Given the description of an element on the screen output the (x, y) to click on. 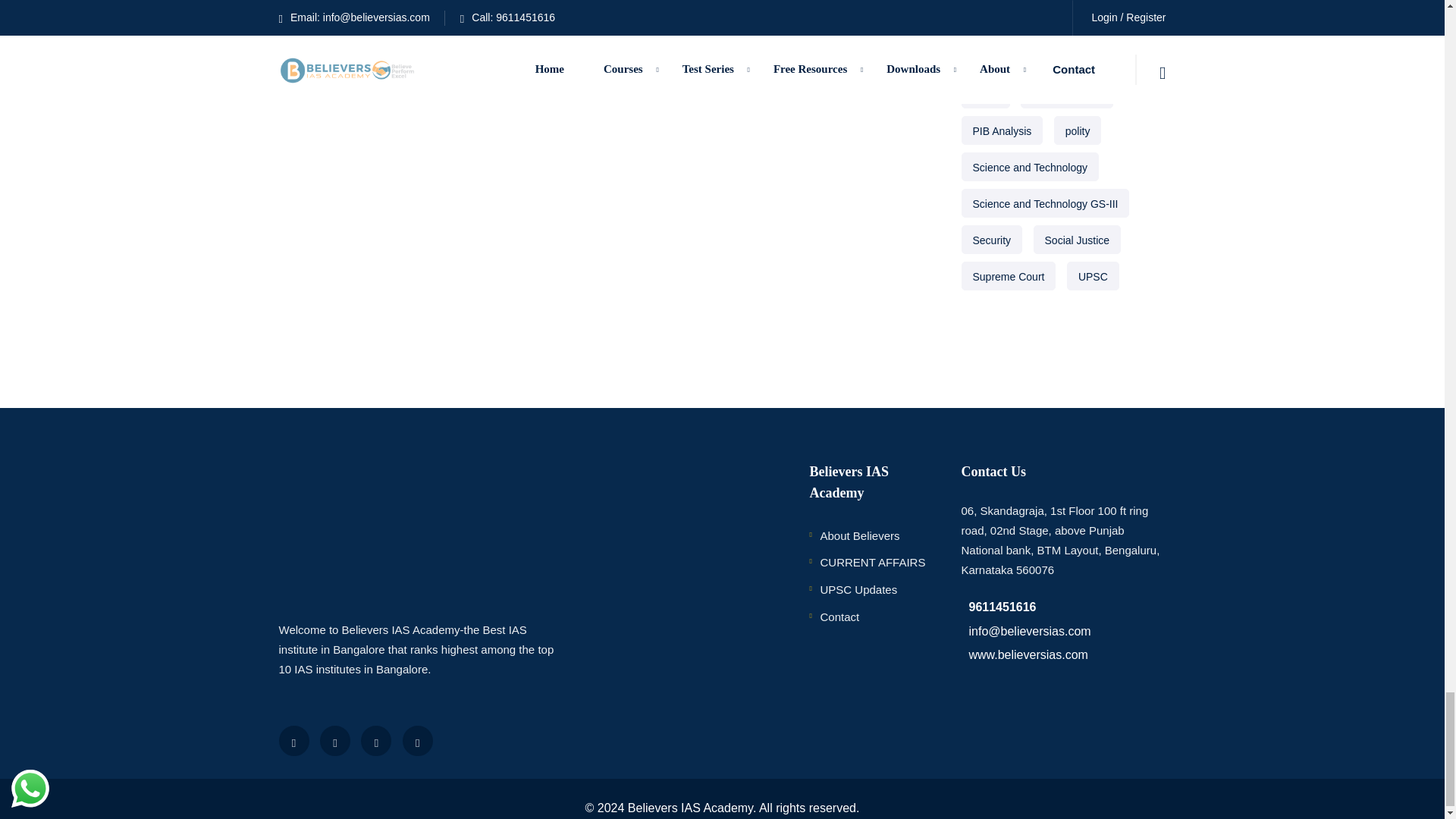
Instagram (417, 740)
Twitter (335, 740)
Facebook (293, 740)
Youtube (376, 740)
